Given the description of an element on the screen output the (x, y) to click on. 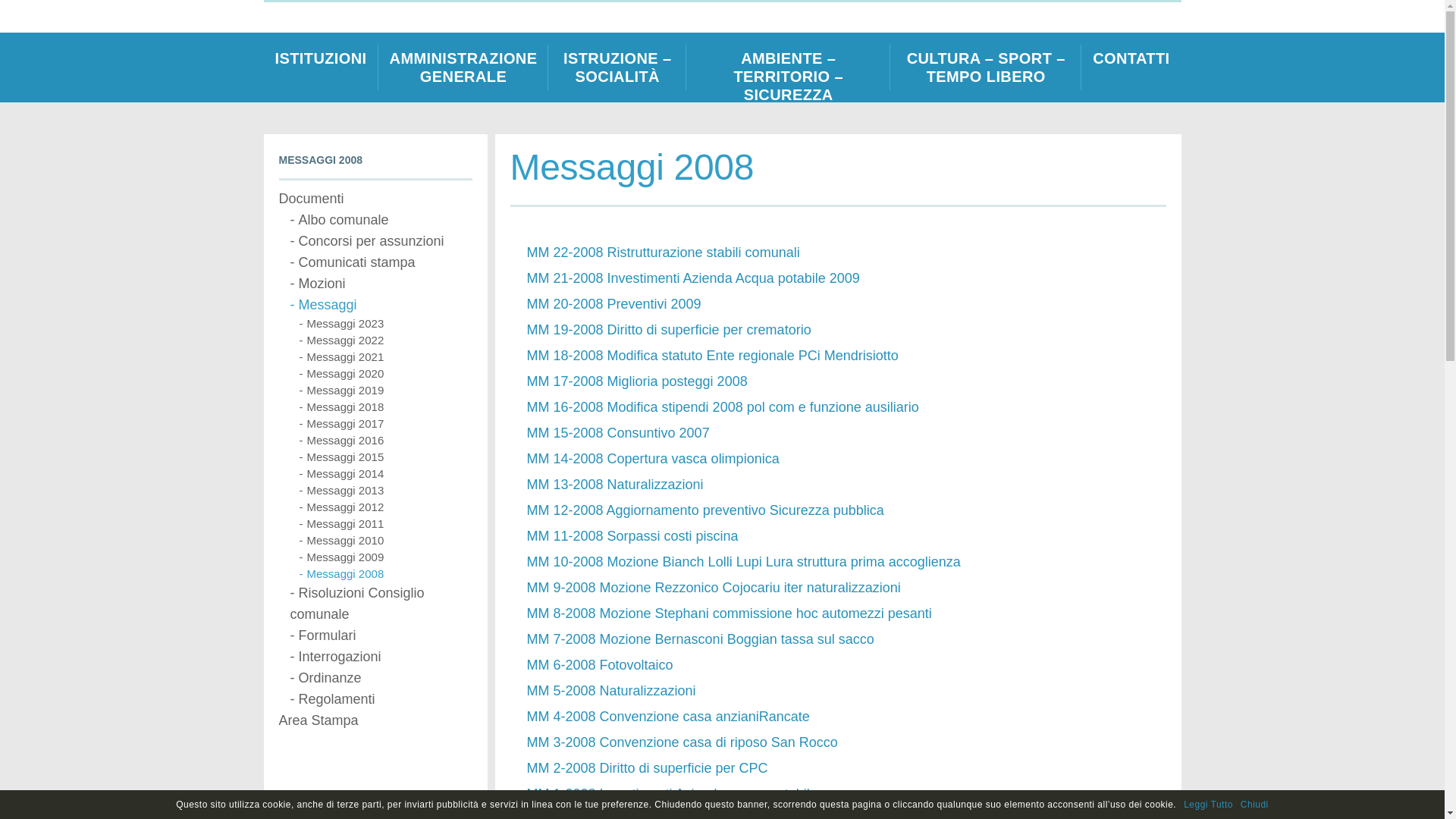
Messaggi 2022 Element type: text (384, 340)
Albo comunale Element type: text (380, 219)
MM 8-2008 Mozione Stephani commissione hoc automezzi pesanti Element type: text (728, 613)
Mozioni Element type: text (380, 283)
MM 2-2008 Diritto di superficie per CPC Element type: text (646, 767)
Regolamenti Element type: text (380, 698)
ISTITUZIONI Element type: text (320, 67)
Messaggi 2019 Element type: text (384, 390)
Messaggi 2012 Element type: text (384, 506)
MM 7-2008 Mozione Bernasconi Boggian tassa sul sacco Element type: text (699, 638)
MM 22-2008 Ristrutturazione stabili comunali Element type: text (662, 252)
MM 15-2008 Consuntivo 2007 Element type: text (617, 432)
Concorsi per assunzioni Element type: text (380, 240)
Messaggi 2010 Element type: text (384, 540)
AMMINISTRAZIONE GENERALE Element type: text (463, 67)
MM 9-2008 Mozione Rezzonico Cojocariu iter naturalizzazioni Element type: text (713, 587)
MM 20-2008 Preventivi 2009 Element type: text (613, 303)
MM 19-2008 Diritto di superficie per crematorio Element type: text (668, 329)
MM 11-2008 Sorpassi costi piscina Element type: text (631, 535)
Messaggi 2013 Element type: text (384, 490)
Messaggi 2009 Element type: text (384, 557)
Messaggi 2023 Element type: text (384, 323)
Interrogazioni Element type: text (380, 656)
Messaggi 2017 Element type: text (384, 423)
Leggi Tutto Element type: text (1208, 804)
MM 14-2008 Copertura vasca olimpionica Element type: text (652, 458)
MM 4-2008 Convenzione casa anzianiRancate Element type: text (667, 716)
MM 6-2008 Fotovoltaico Element type: text (599, 664)
Messaggi 2014 Element type: text (384, 473)
Messaggi 2021 Element type: text (384, 356)
Documenti Element type: text (375, 198)
Chiudi Element type: text (1254, 804)
MM 13-2008 Naturalizzazioni Element type: text (614, 484)
MM 3-2008 Convenzione casa di riposo San Rocco Element type: text (681, 741)
MM 21-2008 Investimenti Azienda Acqua potabile 2009 Element type: text (692, 277)
Area Stampa Element type: text (375, 720)
Comunicati stampa Element type: text (380, 262)
Messaggi 2008 Element type: text (384, 573)
Risoluzioni Consiglio comunale Element type: text (380, 603)
MM 5-2008 Naturalizzazioni Element type: text (610, 690)
Messaggi 2020 Element type: text (384, 373)
MM 1-2008 Investimenti Azienda acqua potabile Element type: text (671, 793)
Ordinanze Element type: text (380, 677)
Messaggi 2015 Element type: text (384, 456)
Formulari Element type: text (380, 635)
MM 17-2008 Miglioria posteggi 2008 Element type: text (636, 381)
MM 18-2008 Modifica statuto Ente regionale PCi Mendrisiotto Element type: text (711, 355)
Messaggi Element type: text (380, 304)
Messaggi 2018 Element type: text (384, 406)
MM 12-2008 Aggiornamento preventivo Sicurezza pubblica Element type: text (704, 509)
CONTATTI Element type: text (1130, 67)
Messaggi 2011 Element type: text (384, 523)
Messaggi 2016 Element type: text (384, 440)
